Given the description of an element on the screen output the (x, y) to click on. 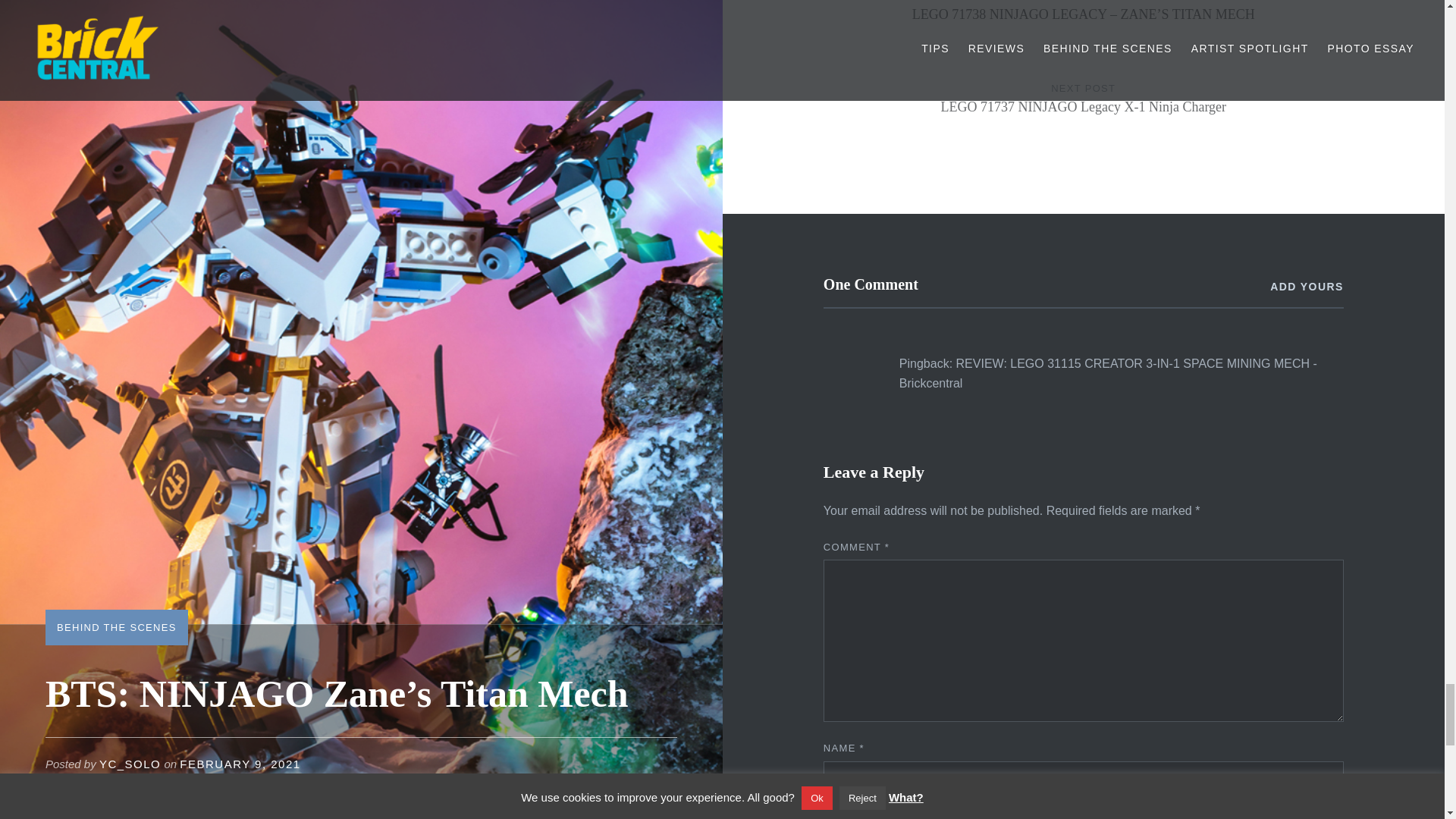
ADD YOURS (1083, 112)
